Given the description of an element on the screen output the (x, y) to click on. 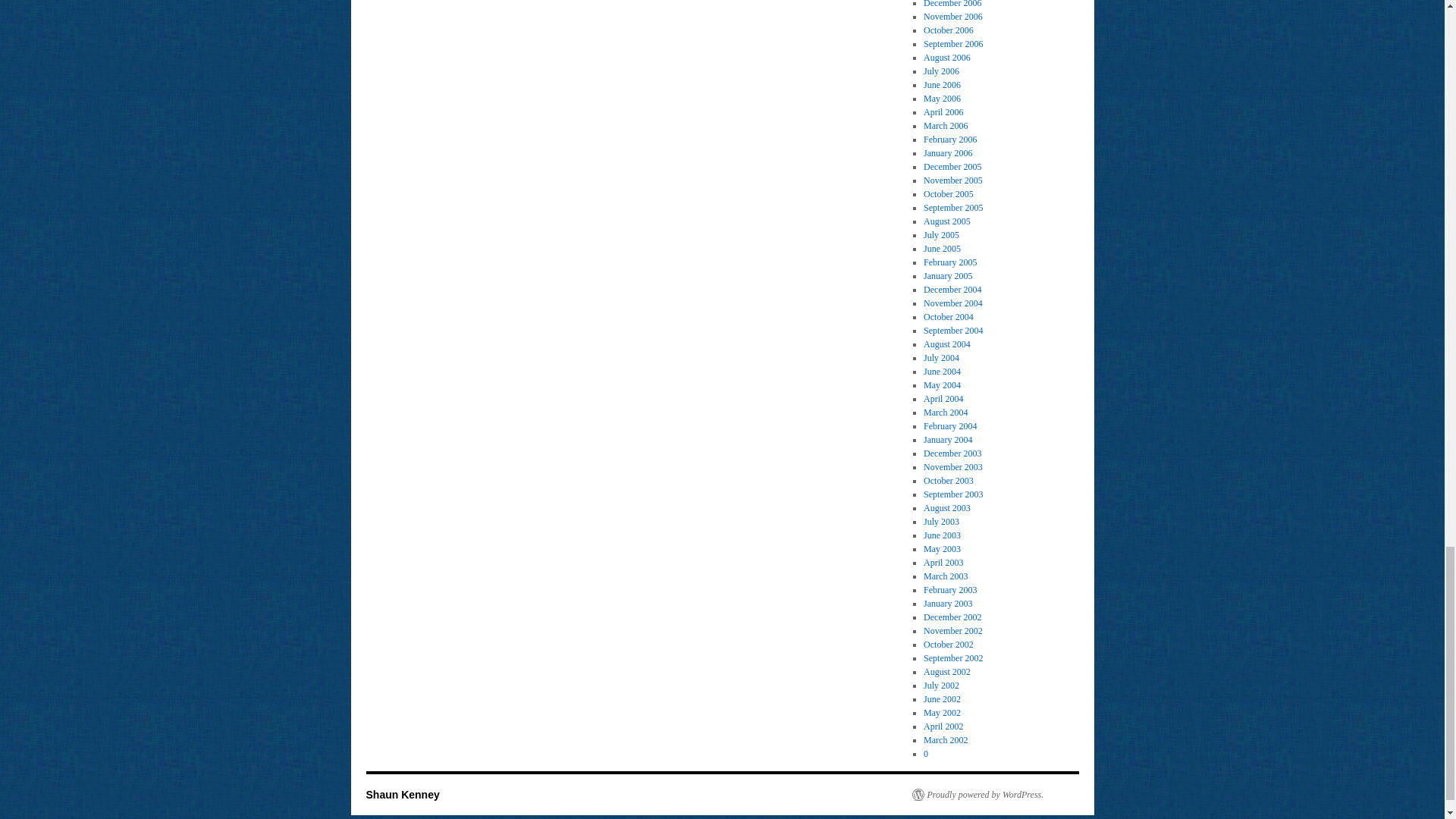
Semantic Personal Publishing Platform (977, 794)
